Given the description of an element on the screen output the (x, y) to click on. 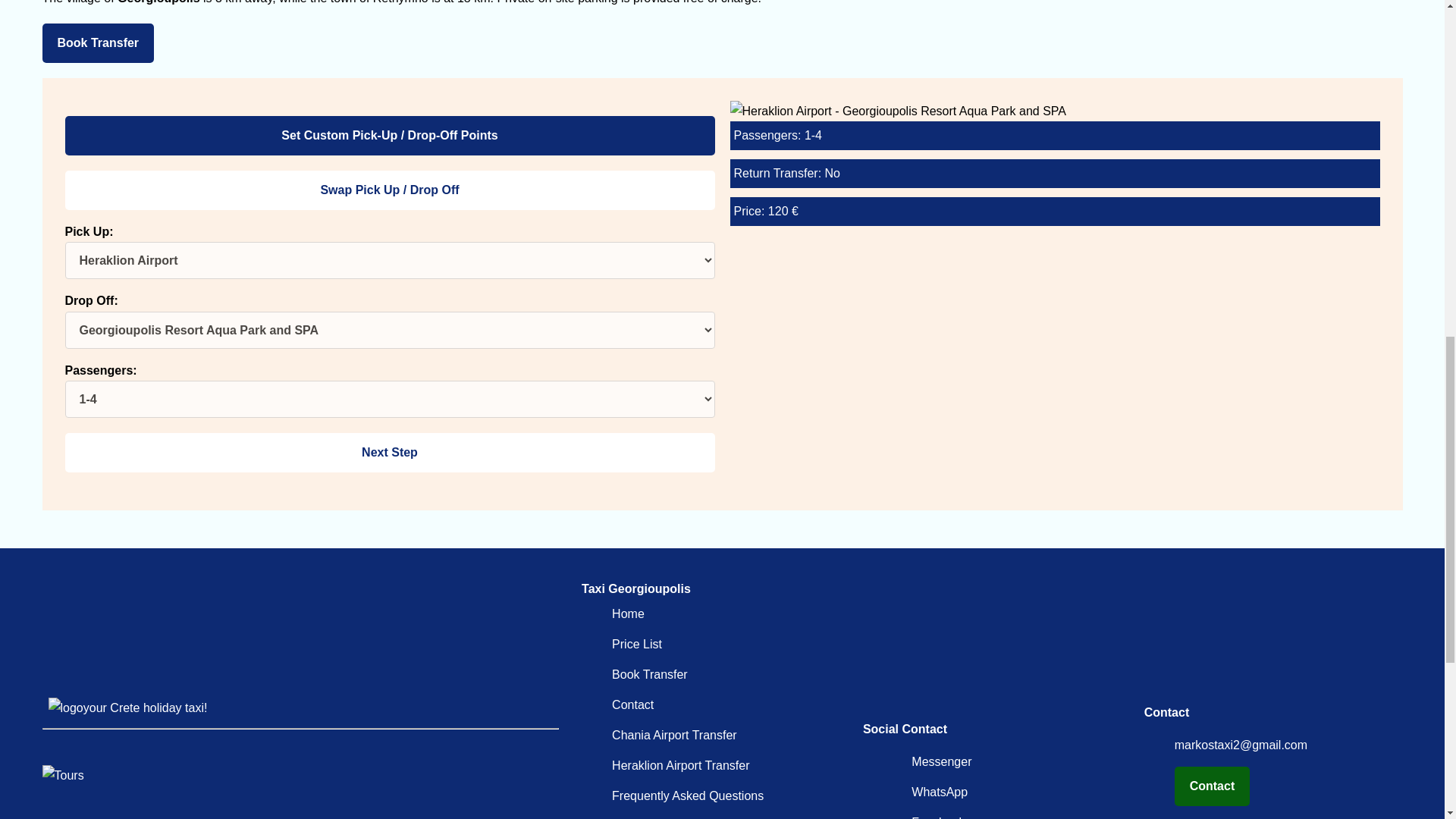
Heraklion Airport Transfer (680, 765)
Frequently Asked Questions (686, 795)
Chania Airport Transfer (673, 735)
Book Transfer (649, 674)
Price List (636, 644)
your Crete holiday taxi! (128, 707)
Home (628, 613)
Book Transfer (98, 43)
Contact (632, 704)
